Given the description of an element on the screen output the (x, y) to click on. 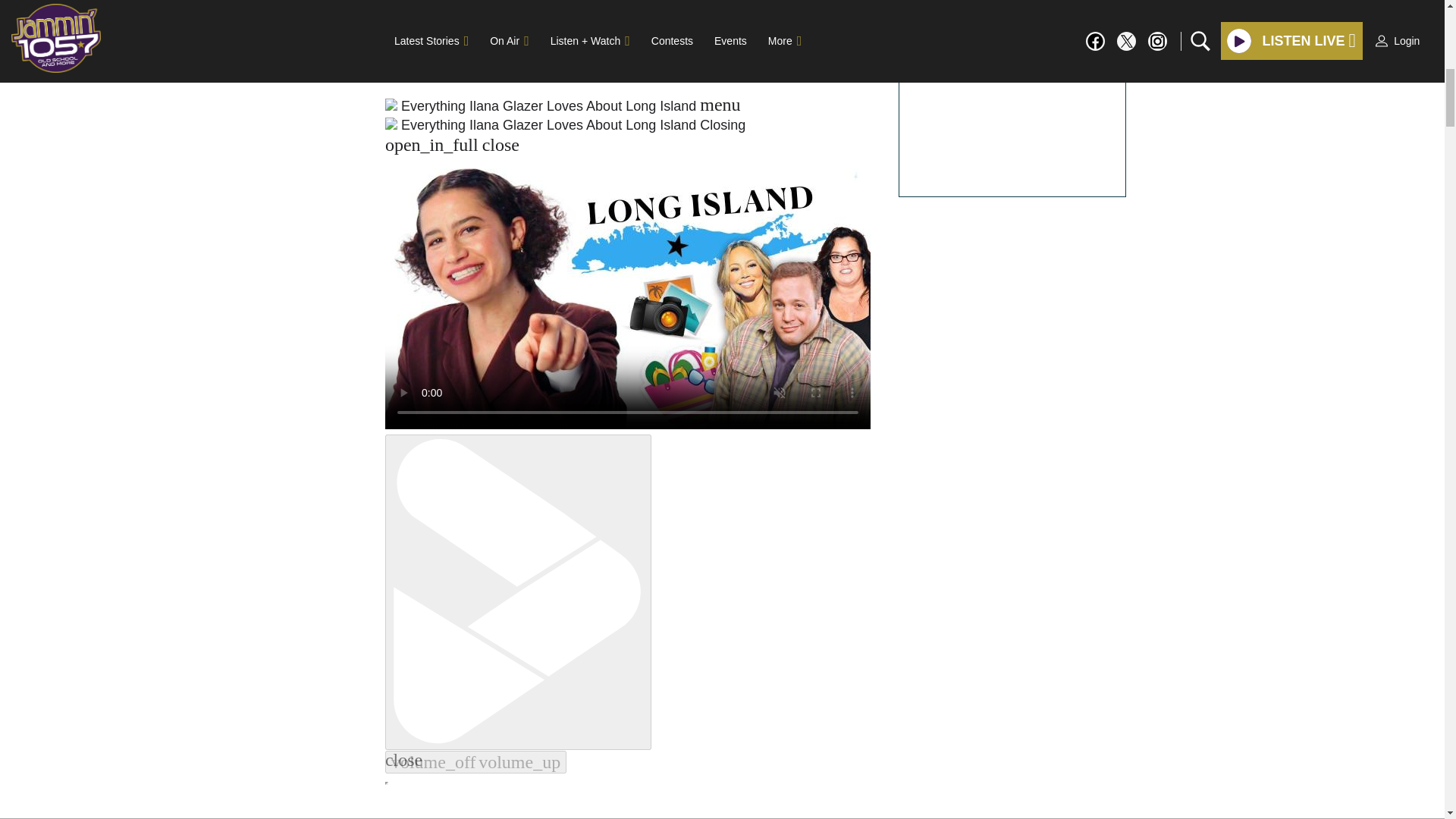
Close AdCheckmark indicating ad close (1434, 11)
